Given the description of an element on the screen output the (x, y) to click on. 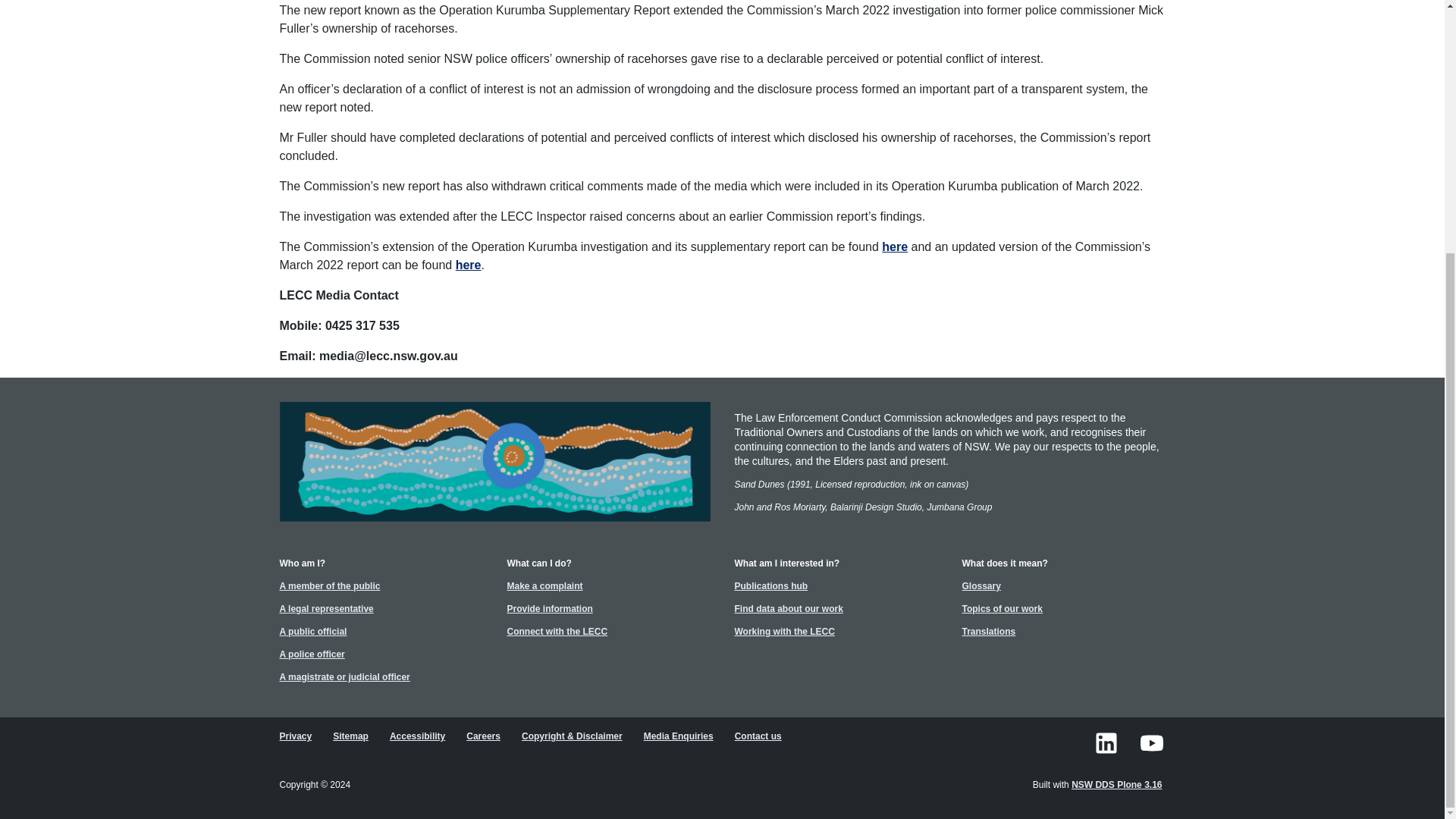
here (468, 264)
Contact us (759, 736)
Accessibility (419, 736)
here (894, 246)
A member of the public (330, 586)
Privacy (296, 736)
Media Enquiries (679, 736)
NSW DDS Plone 3.16 (1117, 784)
YouTube (1150, 742)
Provide information (550, 608)
